Given the description of an element on the screen output the (x, y) to click on. 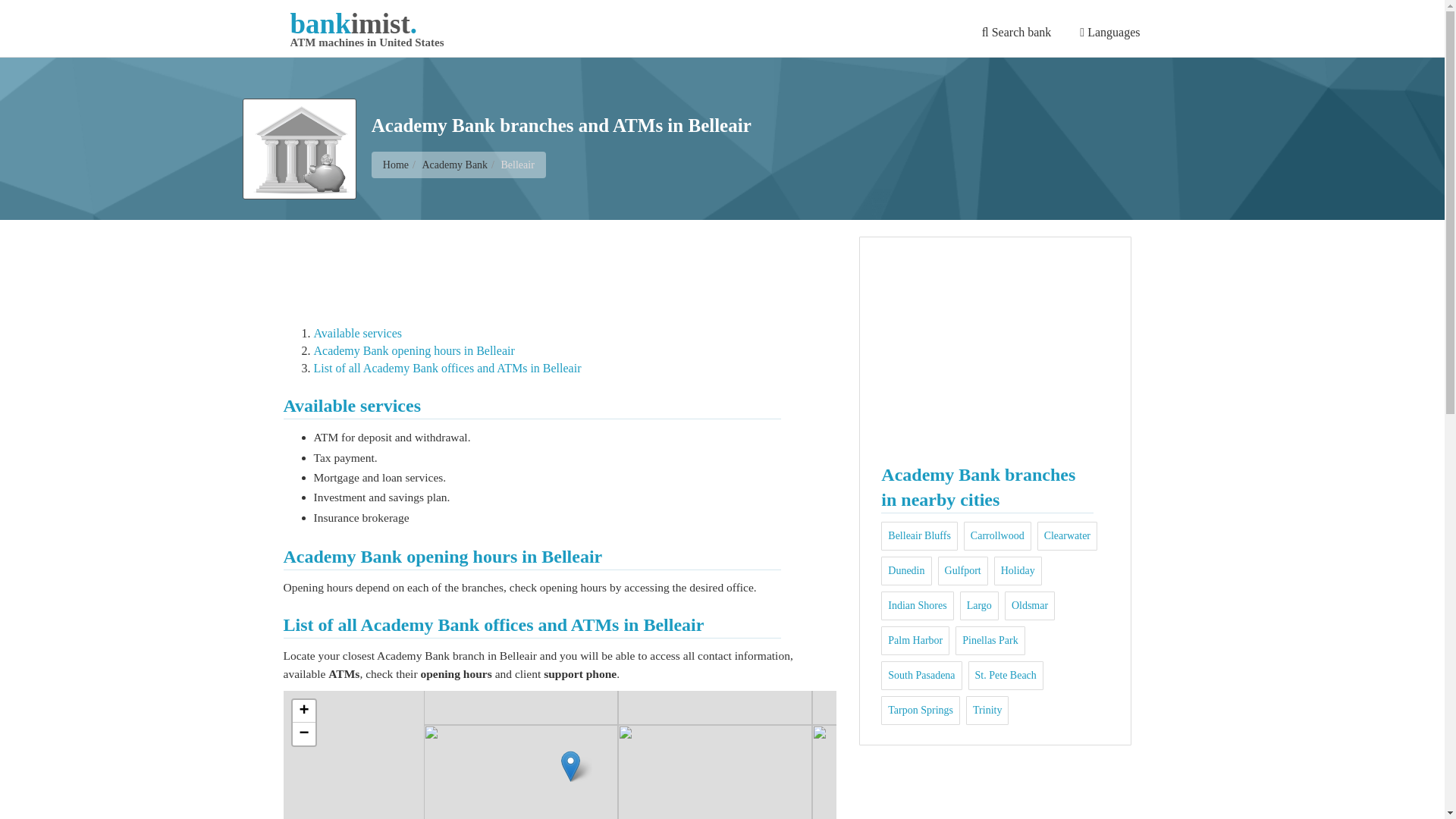
Search bank (1016, 31)
Clearwater (1066, 535)
Zoom in (303, 711)
Available services (358, 332)
Tarpon Springs (920, 709)
List of all Academy Bank offices and ATMs in Belleair (447, 367)
Languages (1110, 31)
Gulfport (962, 570)
Home (395, 164)
Largo (978, 604)
